Given the description of an element on the screen output the (x, y) to click on. 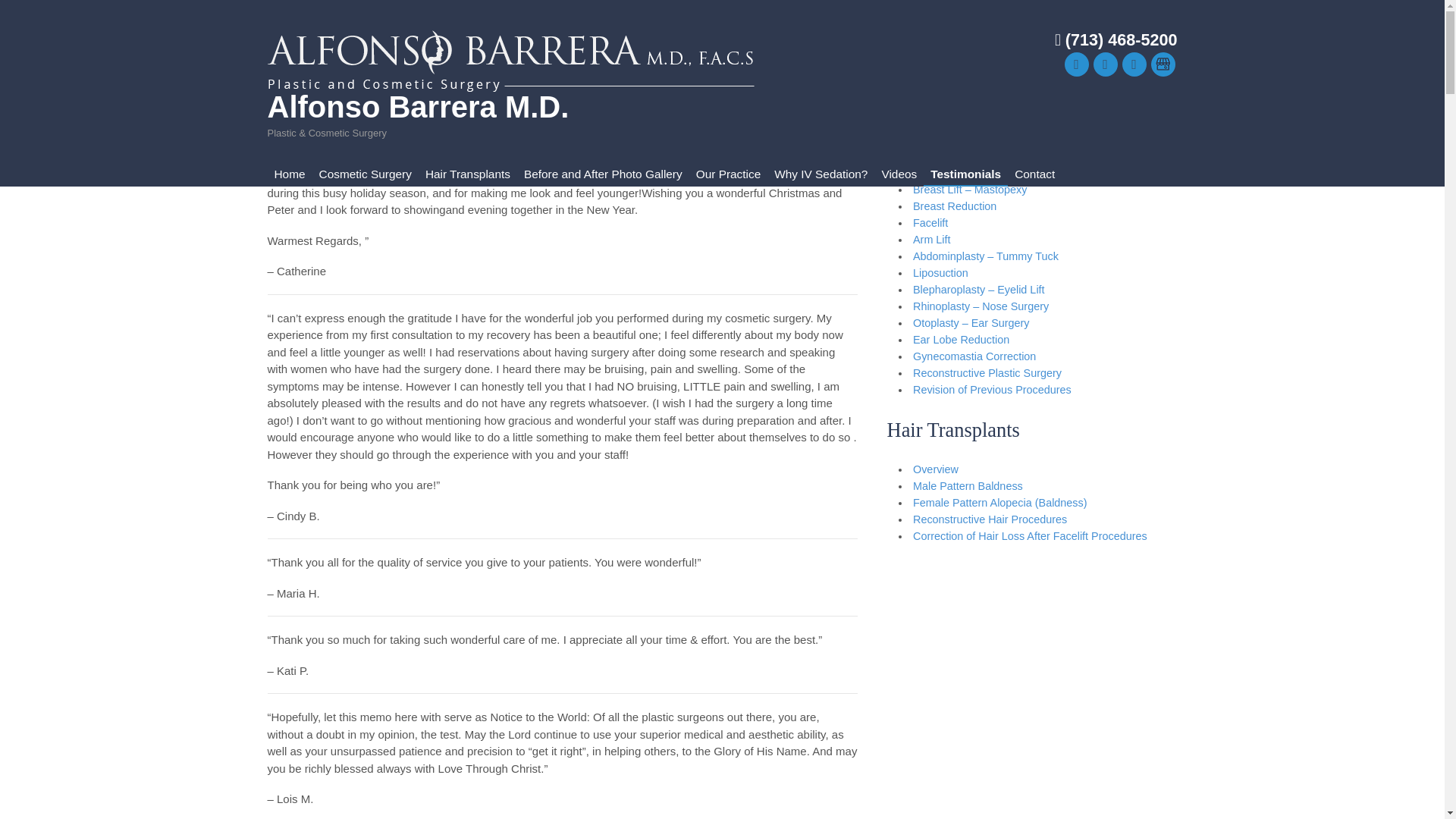
Cosmetic Surgery (366, 174)
Home (288, 174)
Alfonso Barrera M.D. (417, 106)
